Given the description of an element on the screen output the (x, y) to click on. 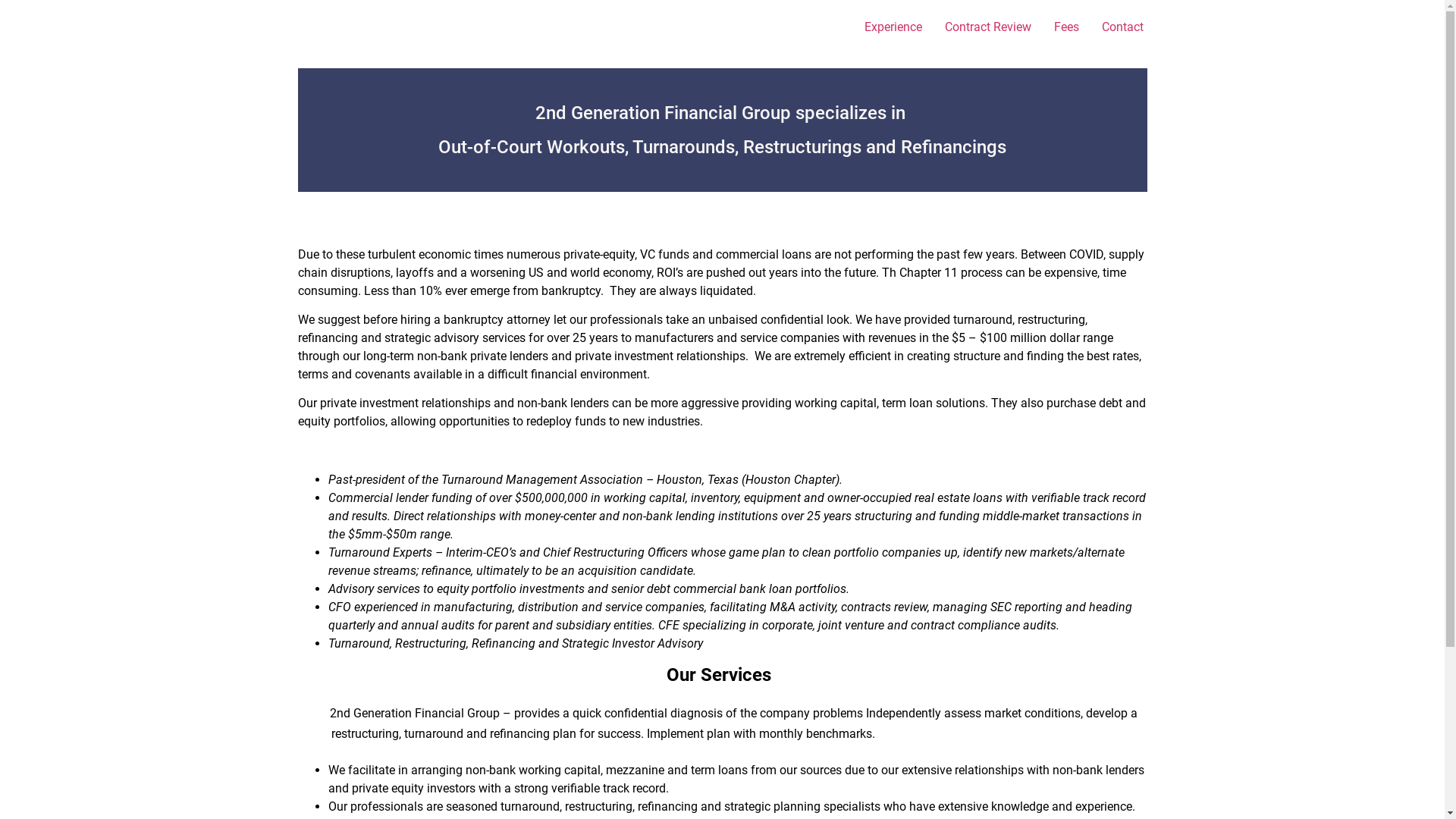
Fees Element type: text (1065, 27)
Contact Element type: text (1122, 27)
Experience Element type: text (892, 27)
Experience Element type: text (722, 78)
Contract Review Element type: text (986, 27)
